Given the description of an element on the screen output the (x, y) to click on. 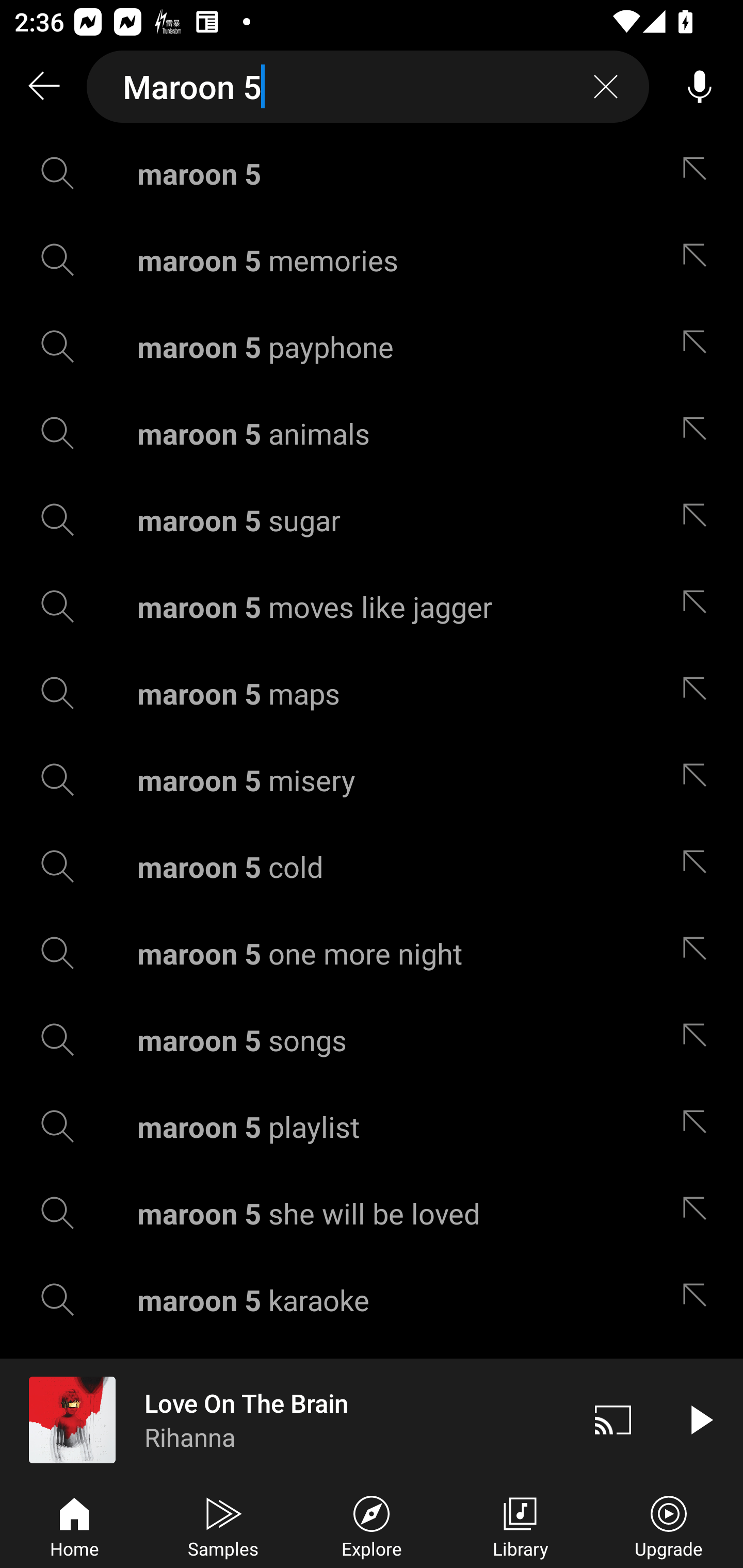
Search back (43, 86)
Maroon 5 (367, 86)
Clear search (605, 86)
Voice search (699, 86)
maroon 5 Edit suggestion maroon 5 (371, 173)
Edit suggestion maroon 5 (699, 173)
Edit suggestion maroon 5 memories (699, 259)
Edit suggestion maroon 5 payphone (699, 346)
maroon 5 animals Edit suggestion maroon 5 animals (371, 433)
Edit suggestion maroon 5 animals (699, 433)
maroon 5 sugar Edit suggestion maroon 5 sugar (371, 519)
Edit suggestion maroon 5 sugar (699, 519)
Edit suggestion maroon 5 moves like jagger (699, 605)
maroon 5 maps Edit suggestion maroon 5 maps (371, 692)
Edit suggestion maroon 5 maps (699, 692)
maroon 5 misery Edit suggestion maroon 5 misery (371, 779)
Edit suggestion maroon 5 misery (699, 779)
maroon 5 cold Edit suggestion maroon 5 cold (371, 866)
Edit suggestion maroon 5 cold (699, 866)
Edit suggestion maroon 5 one more night (699, 953)
maroon 5 songs Edit suggestion maroon 5 songs (371, 1040)
Edit suggestion maroon 5 songs (699, 1040)
Edit suggestion maroon 5 playlist (699, 1126)
Edit suggestion maroon 5 she will be loved (699, 1212)
maroon 5 karaoke Edit suggestion maroon 5 karaoke (371, 1299)
Edit suggestion maroon 5 karaoke (699, 1299)
Love On The Brain Rihanna (284, 1419)
Cast. Disconnected (612, 1419)
Play video (699, 1419)
Home (74, 1524)
Samples (222, 1524)
Explore (371, 1524)
Library (519, 1524)
Upgrade (668, 1524)
